Given the description of an element on the screen output the (x, y) to click on. 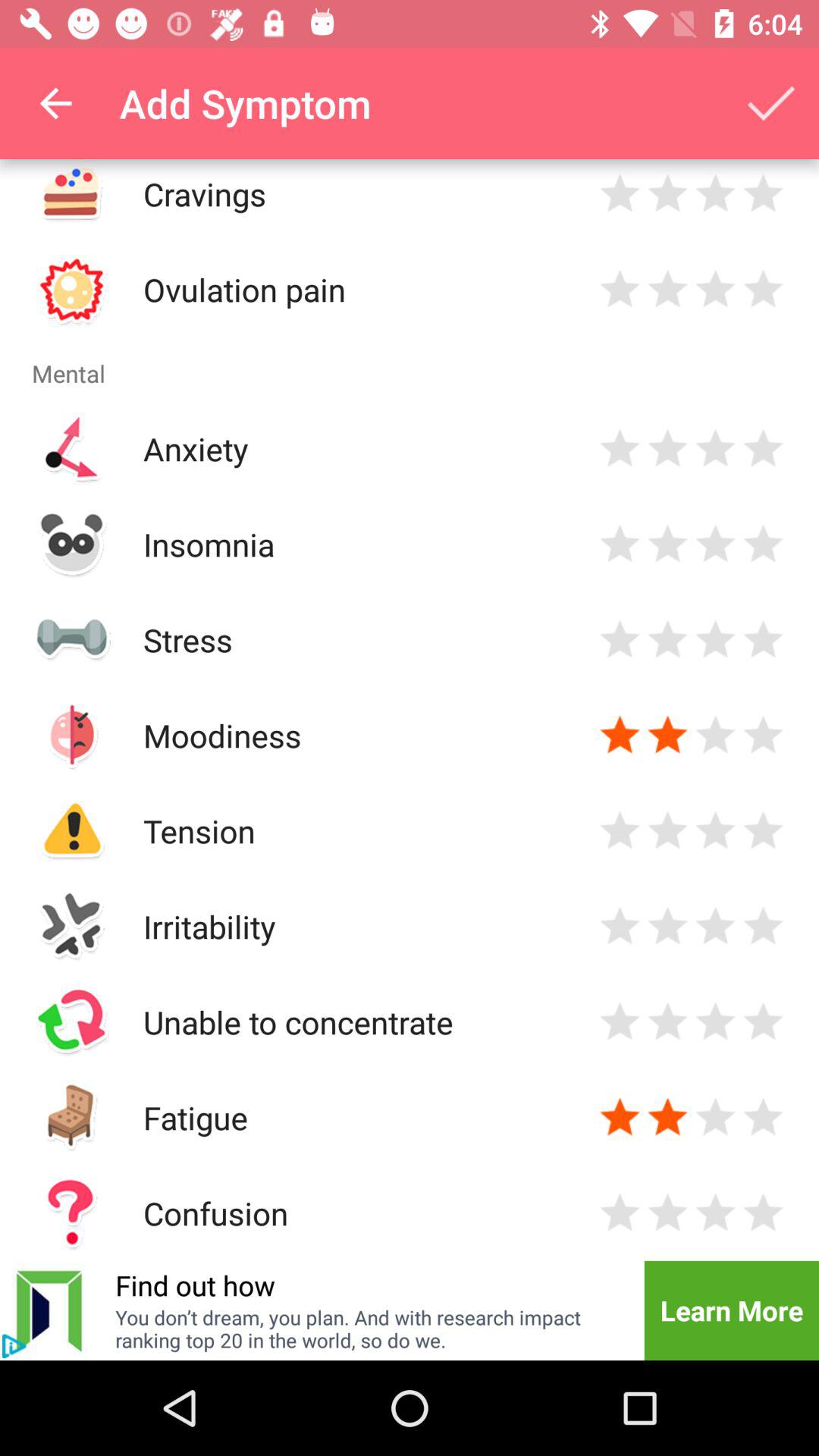
enter rating (619, 193)
